Given the description of an element on the screen output the (x, y) to click on. 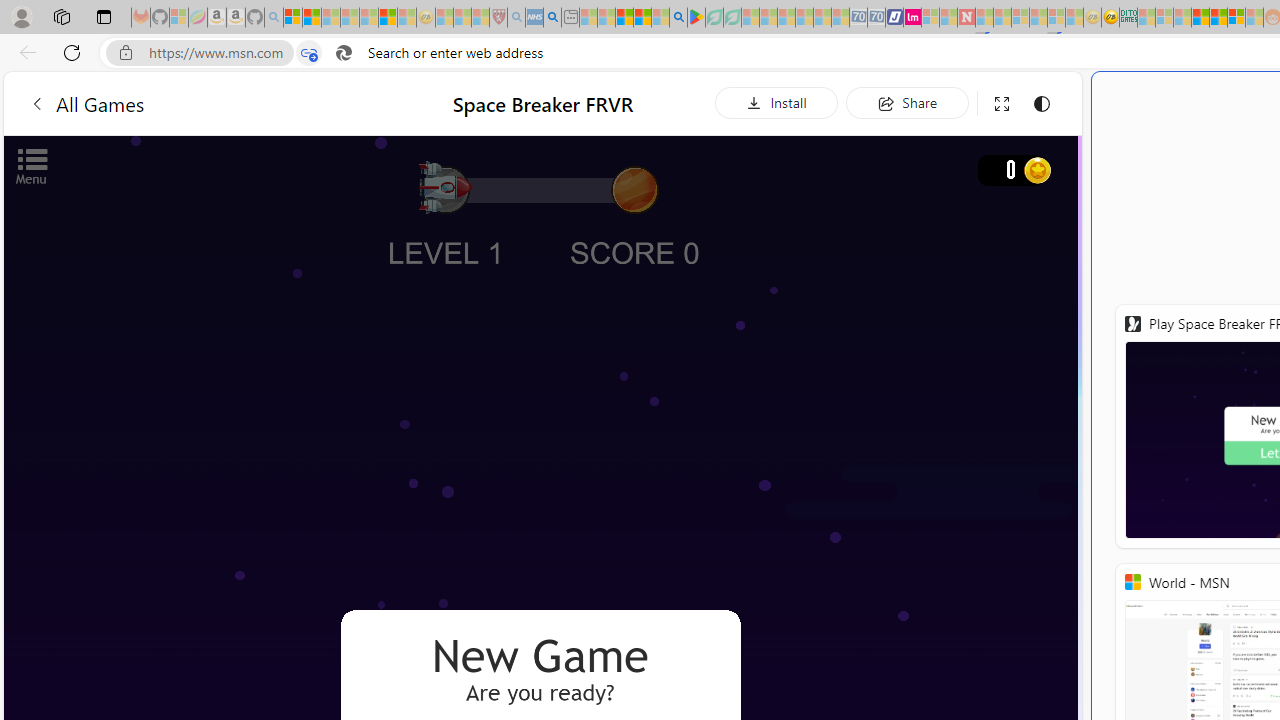
Share (907, 102)
Bluey: Let's Play! - Apps on Google Play (696, 17)
